Given the description of an element on the screen output the (x, y) to click on. 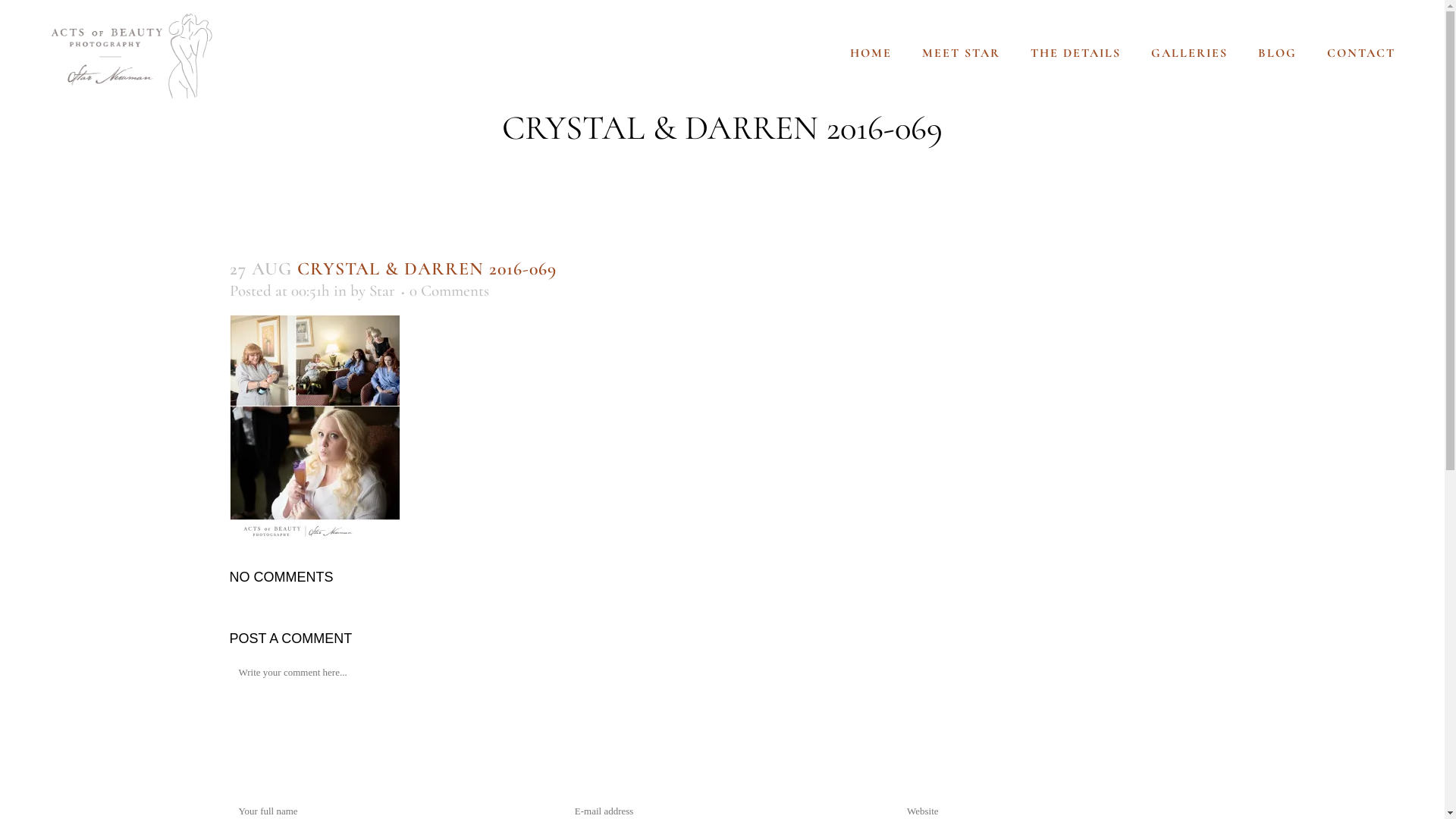
Star Element type: text (381, 290)
THE DETAILS Element type: text (1075, 53)
GALLERIES Element type: text (1188, 53)
HOME Element type: text (870, 53)
MEET STAR Element type: text (960, 53)
BLOG Element type: text (1276, 53)
CONTACT Element type: text (1360, 53)
0 Comments Element type: text (449, 290)
